Given the description of an element on the screen output the (x, y) to click on. 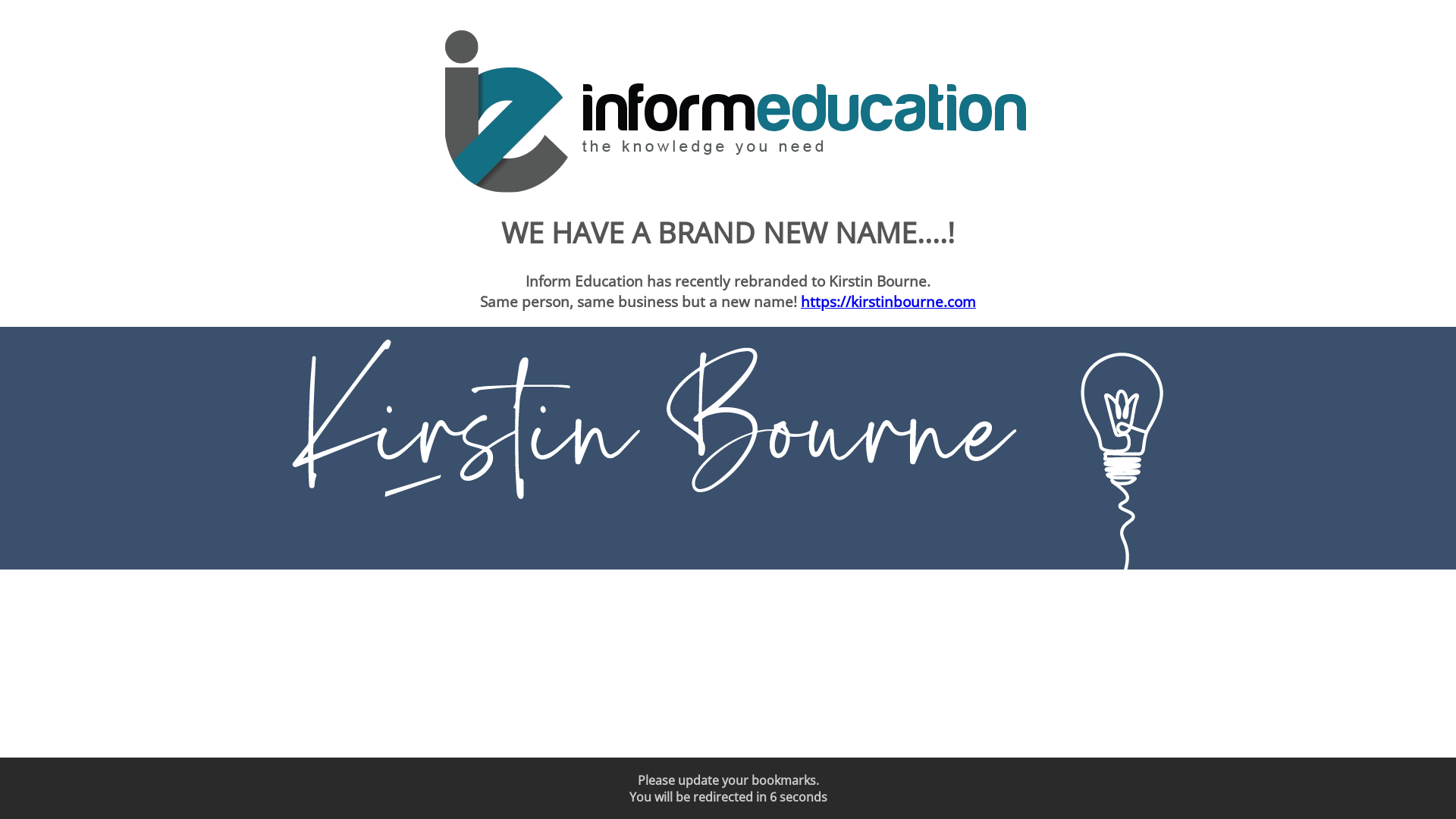
https://kirstinbourne.com Element type: text (887, 301)
